Given the description of an element on the screen output the (x, y) to click on. 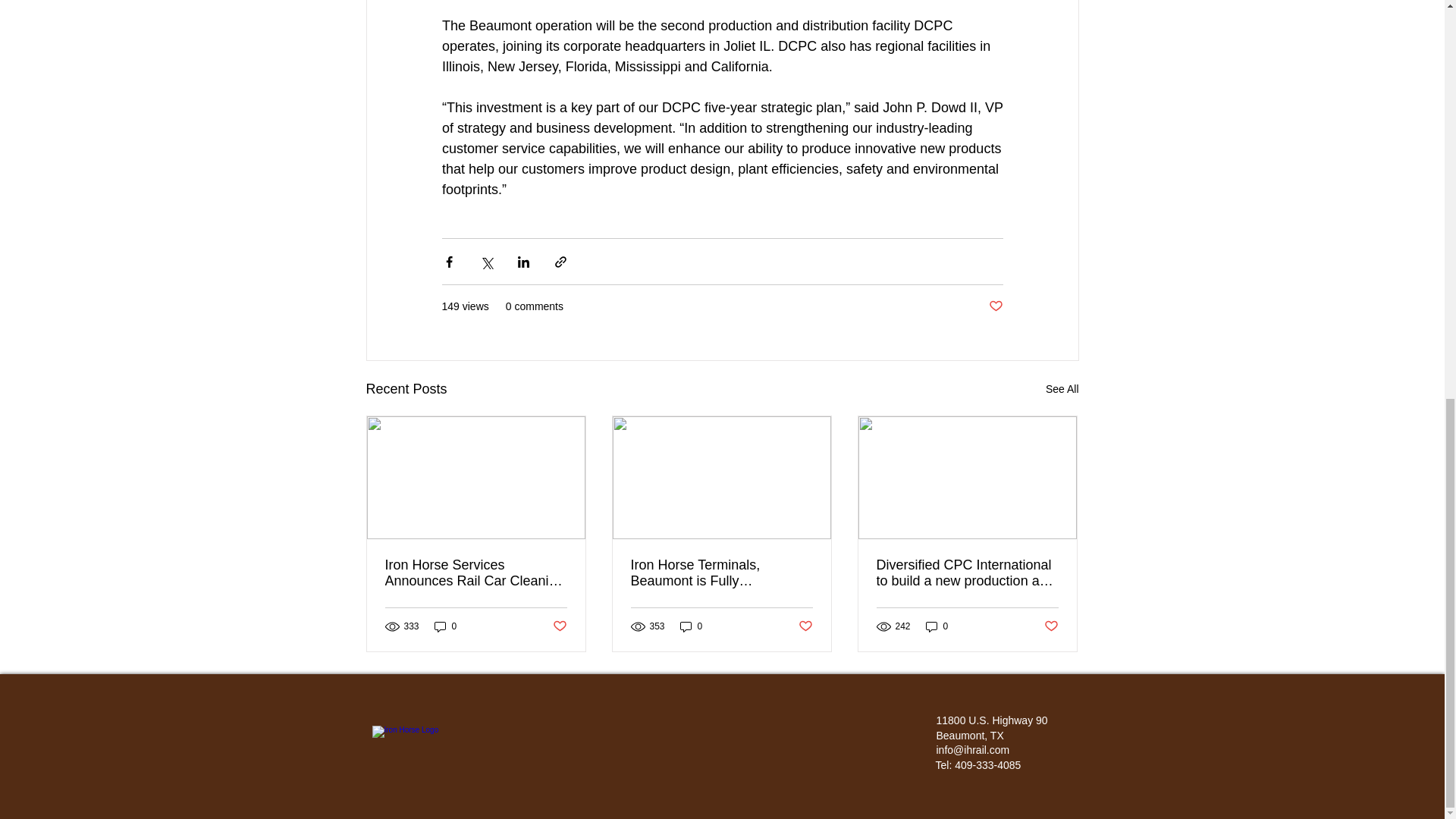
See All (1061, 389)
Post not marked as liked (804, 625)
Tel: 409-333-4085 (979, 765)
Post not marked as liked (558, 625)
Post not marked as liked (1050, 625)
0 (937, 626)
Post not marked as liked (995, 306)
0 (445, 626)
0 (691, 626)
Iron Horse Terminals, Beaumont is Fully Operational (721, 572)
